Given the description of an element on the screen output the (x, y) to click on. 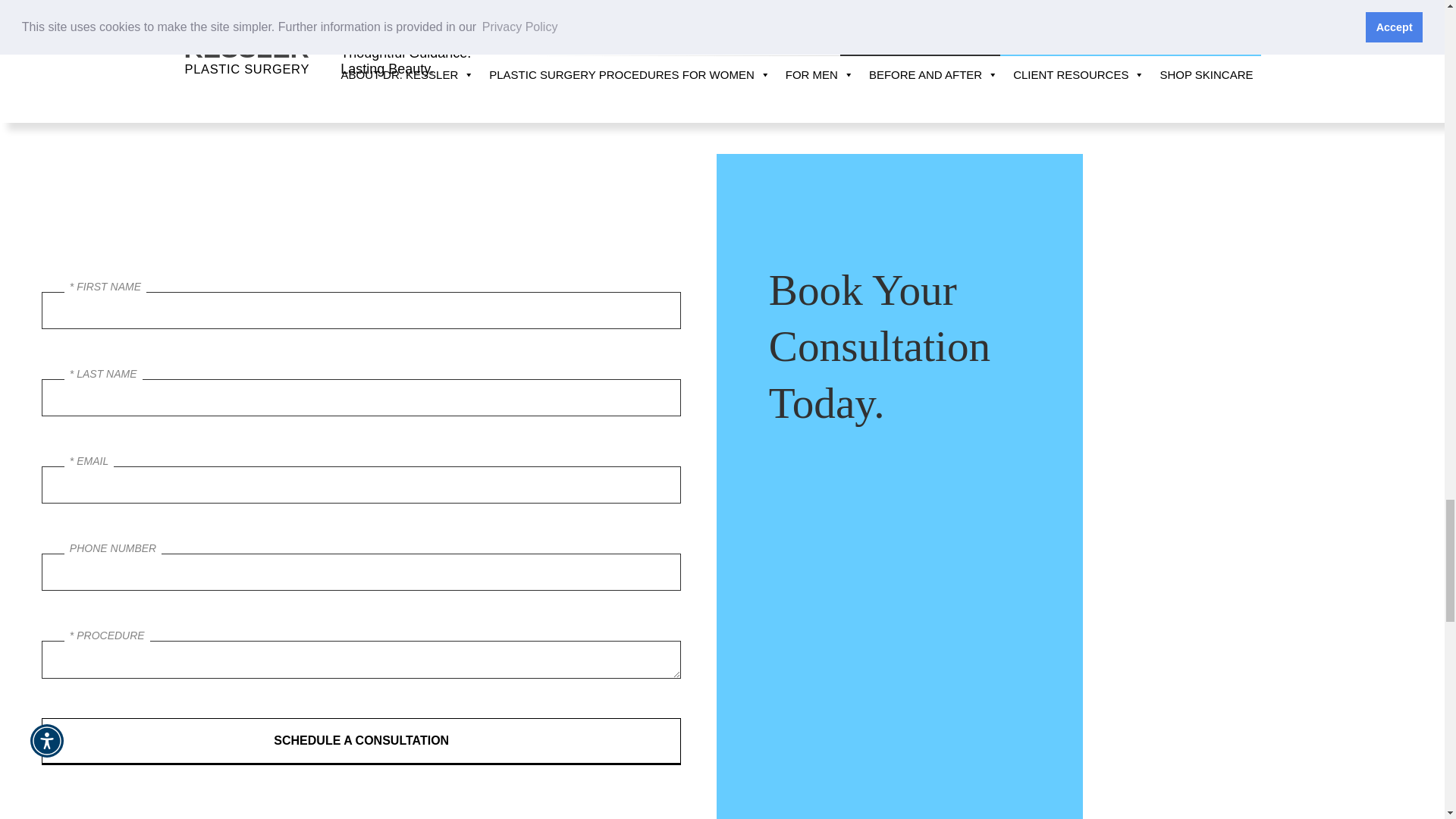
Schedule a Consultation (361, 741)
